Given the description of an element on the screen output the (x, y) to click on. 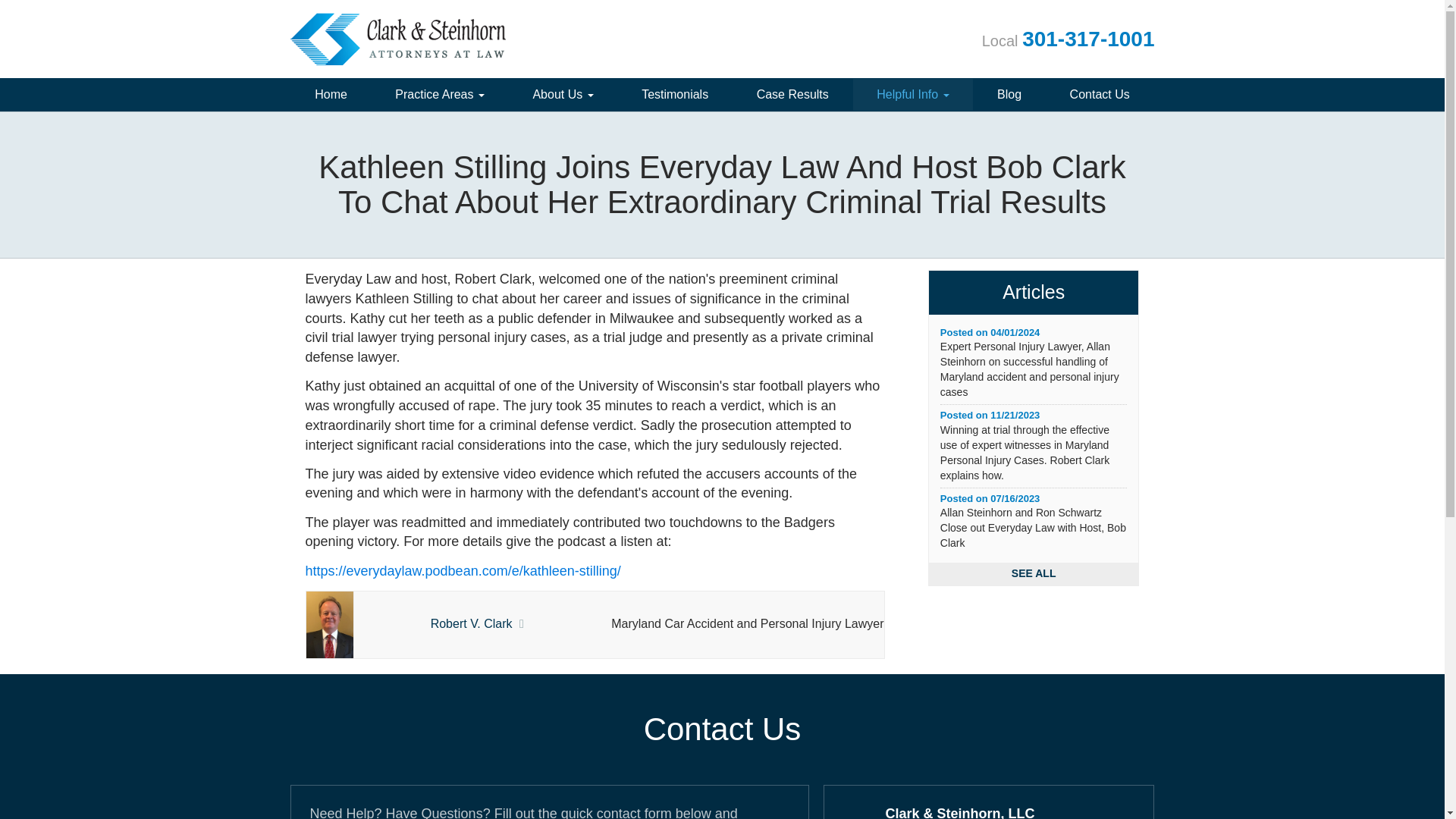
Testimonials (674, 94)
Helpful Info (913, 94)
Home (331, 94)
Robert V. Clark (471, 623)
About Us (562, 94)
Articles (1033, 292)
Practice Areas (439, 94)
Blog (1008, 94)
Contact Us (1099, 94)
